Given the description of an element on the screen output the (x, y) to click on. 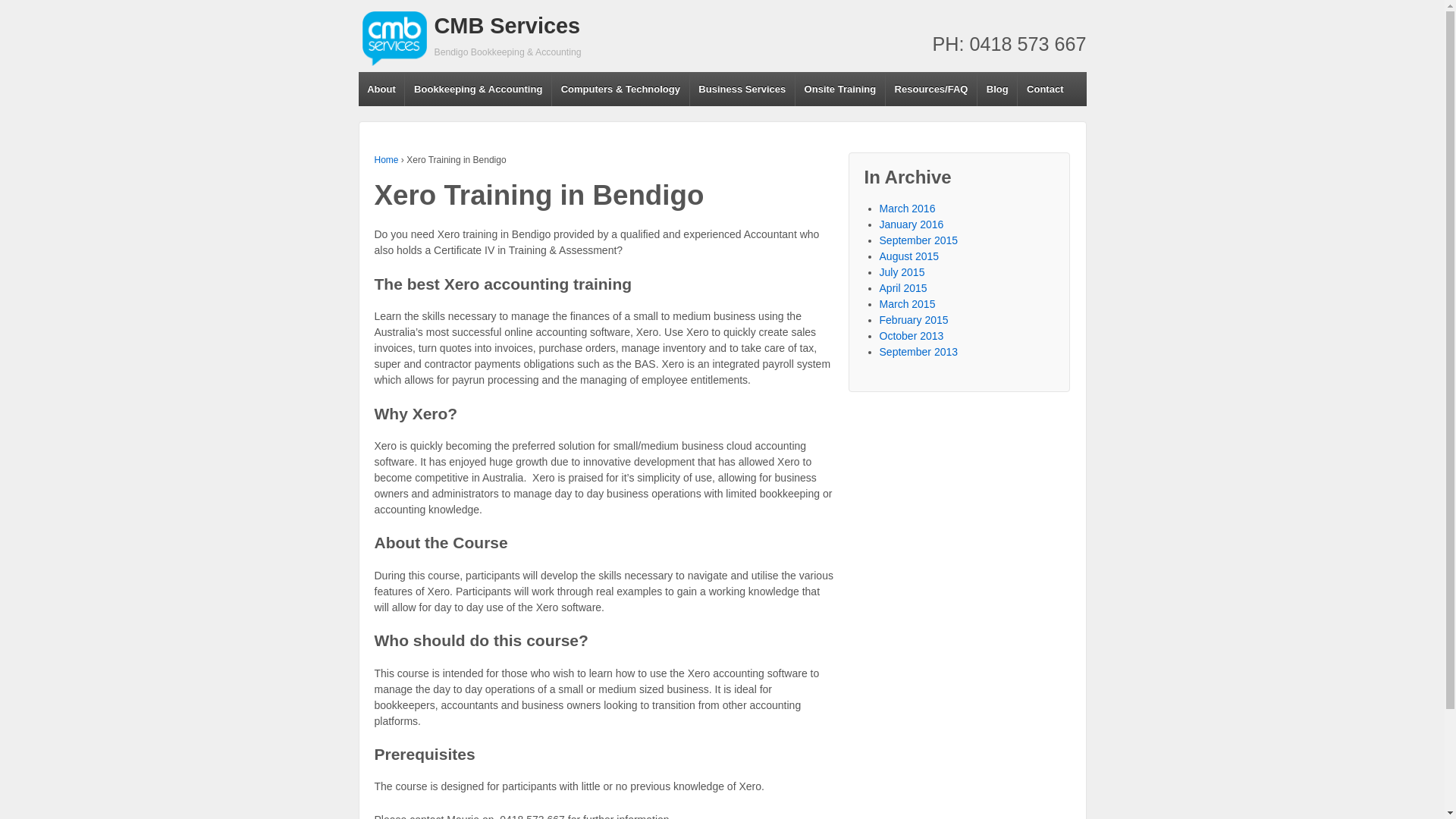
October 2013 Element type: text (911, 335)
Home Element type: text (386, 159)
Blog Element type: text (996, 89)
Computers & Technology Element type: text (620, 89)
January 2016 Element type: text (911, 224)
March 2016 Element type: text (907, 208)
April 2015 Element type: text (903, 288)
Resources/FAQ Element type: text (930, 89)
August 2015 Element type: text (909, 256)
September 2013 Element type: text (918, 351)
Onsite Training Element type: text (839, 89)
March 2015 Element type: text (907, 304)
CMB Services Element type: text (506, 25)
September 2015 Element type: text (918, 240)
Business Services Element type: text (741, 89)
February 2015 Element type: text (913, 319)
July 2015 Element type: text (902, 272)
About Element type: text (380, 89)
Bookkeeping & Accounting Element type: text (477, 89)
Contact Element type: text (1044, 89)
